Given the description of an element on the screen output the (x, y) to click on. 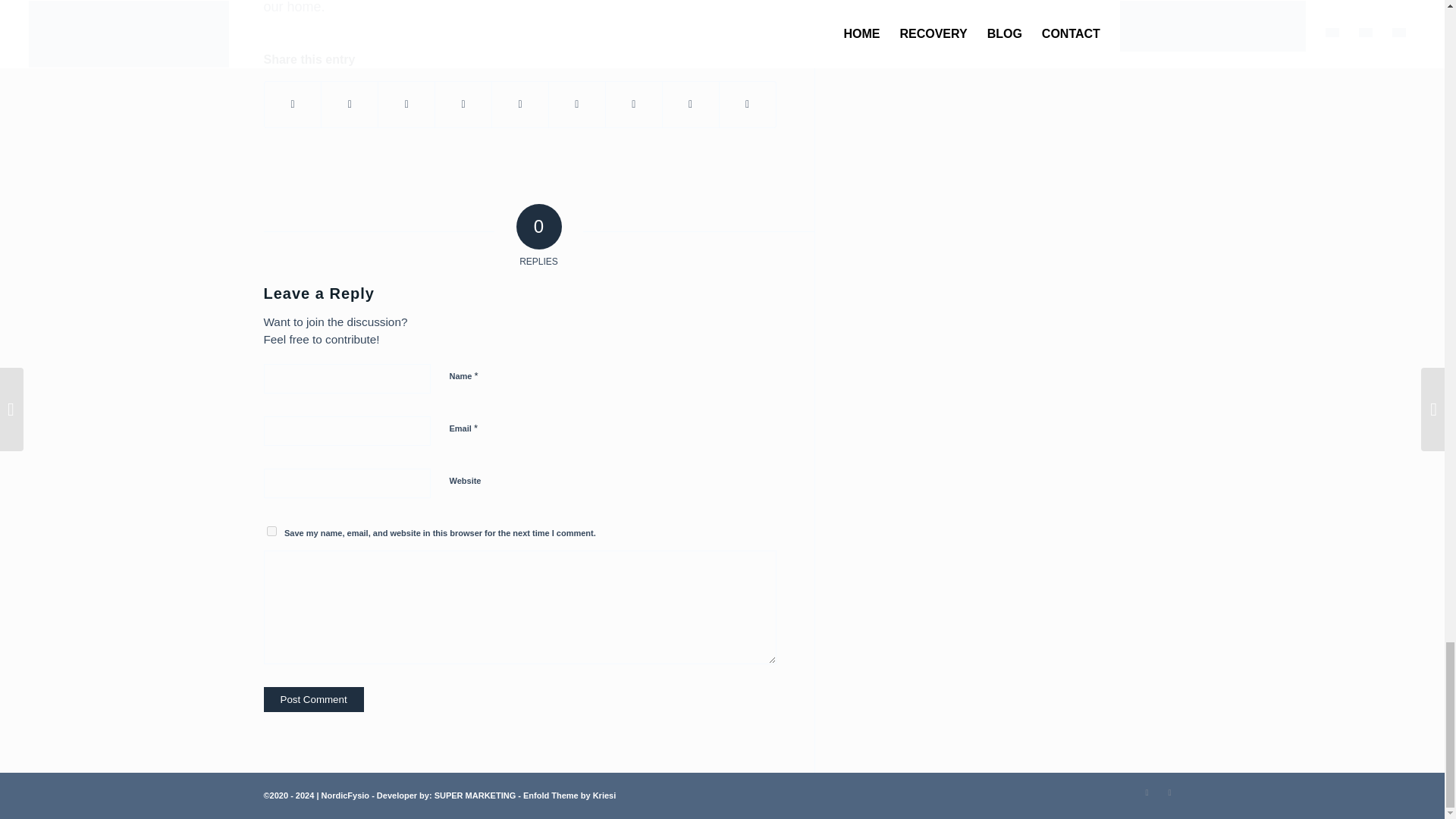
Post Comment (313, 699)
Post Comment (313, 699)
yes (271, 531)
